Given the description of an element on the screen output the (x, y) to click on. 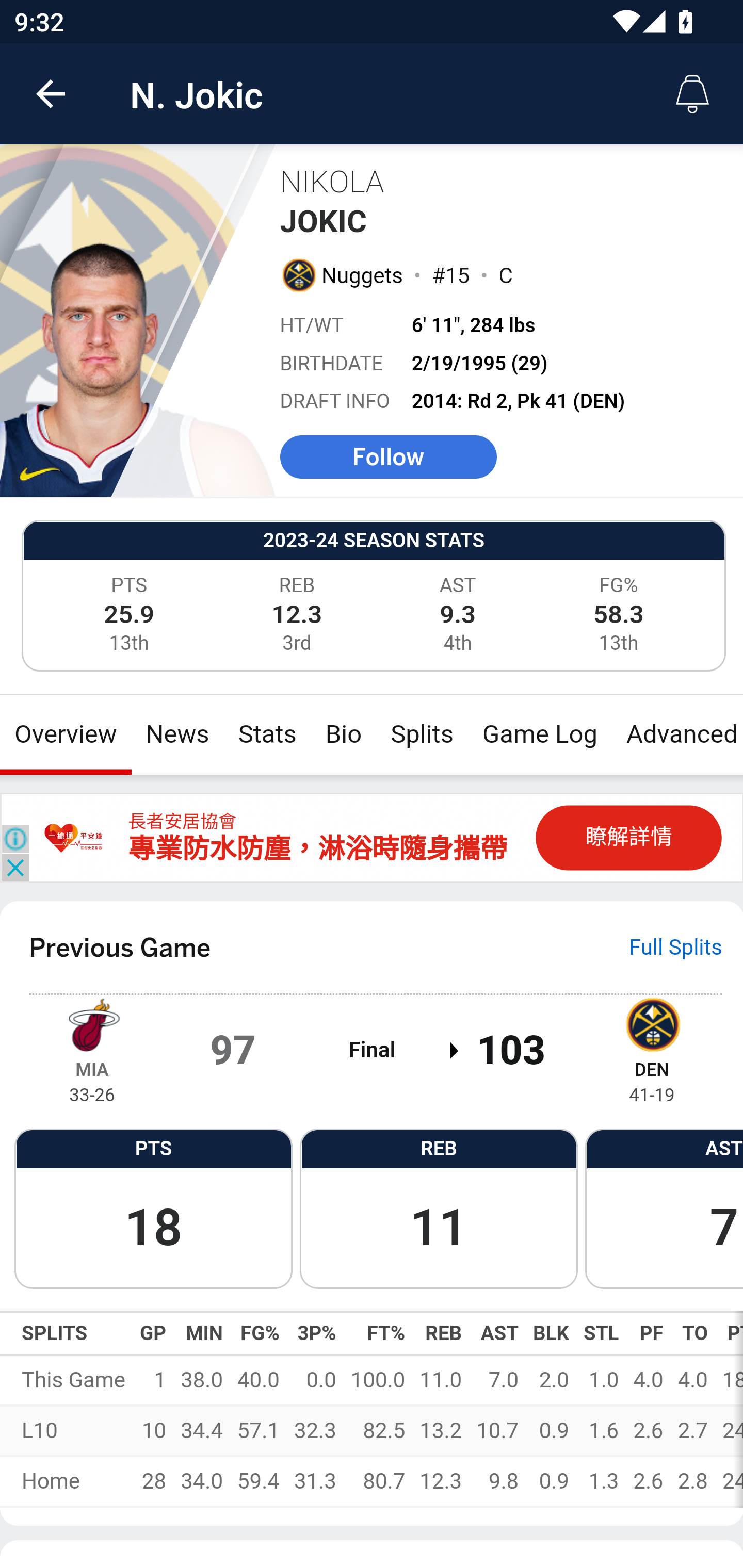
back.button (50, 93)
Alerts (692, 93)
Denver Nuggets (297, 274)
Nuggets (362, 274)
Follow (387, 455)
Overview (65, 734)
News (177, 734)
Stats (267, 734)
Bio (343, 734)
Splits (422, 734)
Game Log (538, 734)
Advanced Stats (676, 734)
瞭解詳情 (628, 837)
長者安居協會 (182, 822)
專業防水防塵，淋浴時隨身攜帶 (317, 849)
Full Splits (675, 946)
Miami Heat (91, 1022)
Denver Nuggets (651, 1022)
PTS 18 REB 11 AST 7 (371, 1206)
PTS 18 (153, 1206)
REB 11 (438, 1206)
AST 7 (664, 1206)
